Given the description of an element on the screen output the (x, y) to click on. 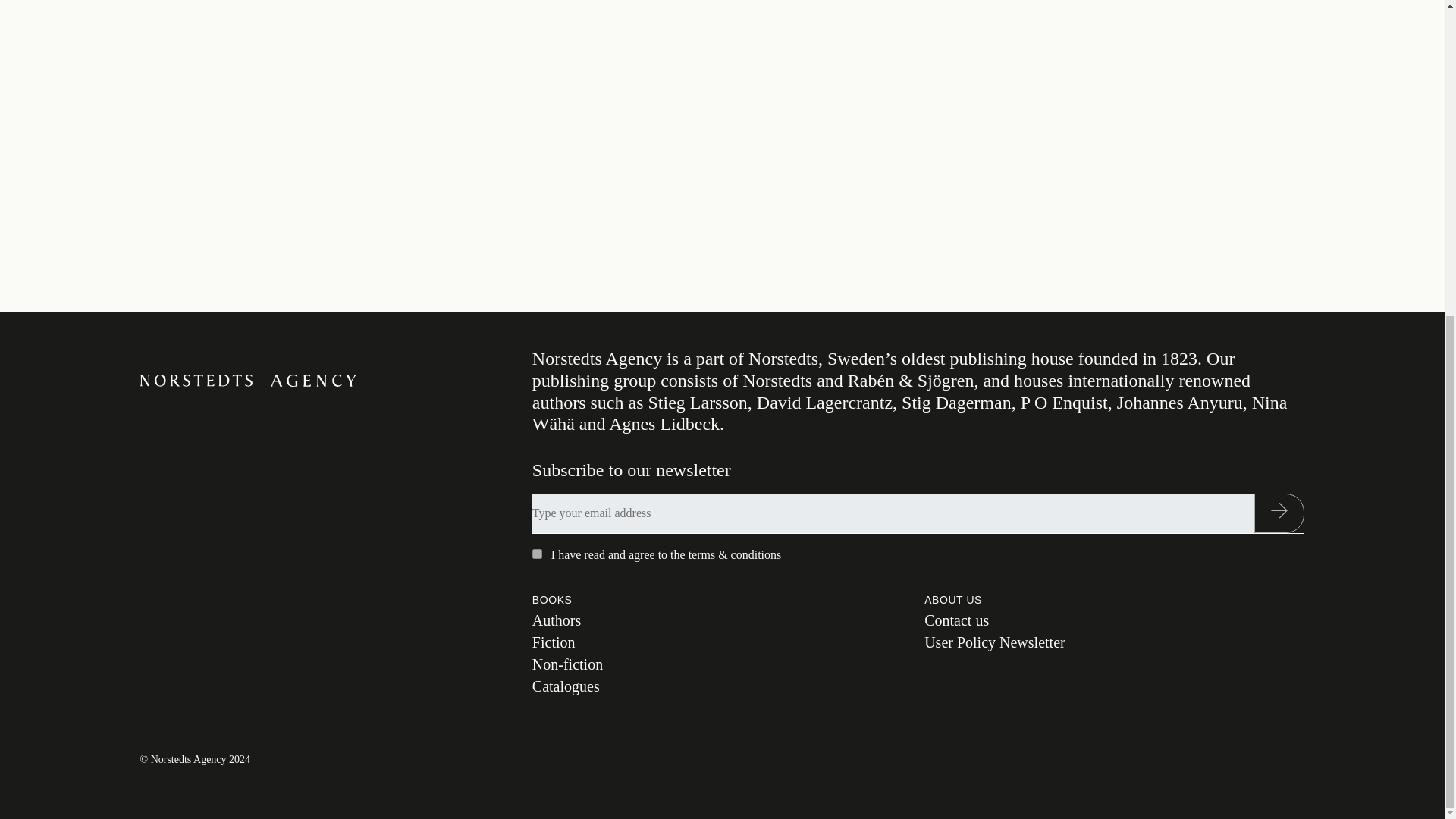
Norstedts Agency (247, 379)
1 (536, 553)
Catalogues (565, 686)
Contact us (956, 619)
Fiction (553, 641)
Norstedts Agency (247, 379)
User Policy Newsletter (994, 641)
Sign up (1278, 513)
Non-fiction (567, 664)
Authors (556, 619)
